Given the description of an element on the screen output the (x, y) to click on. 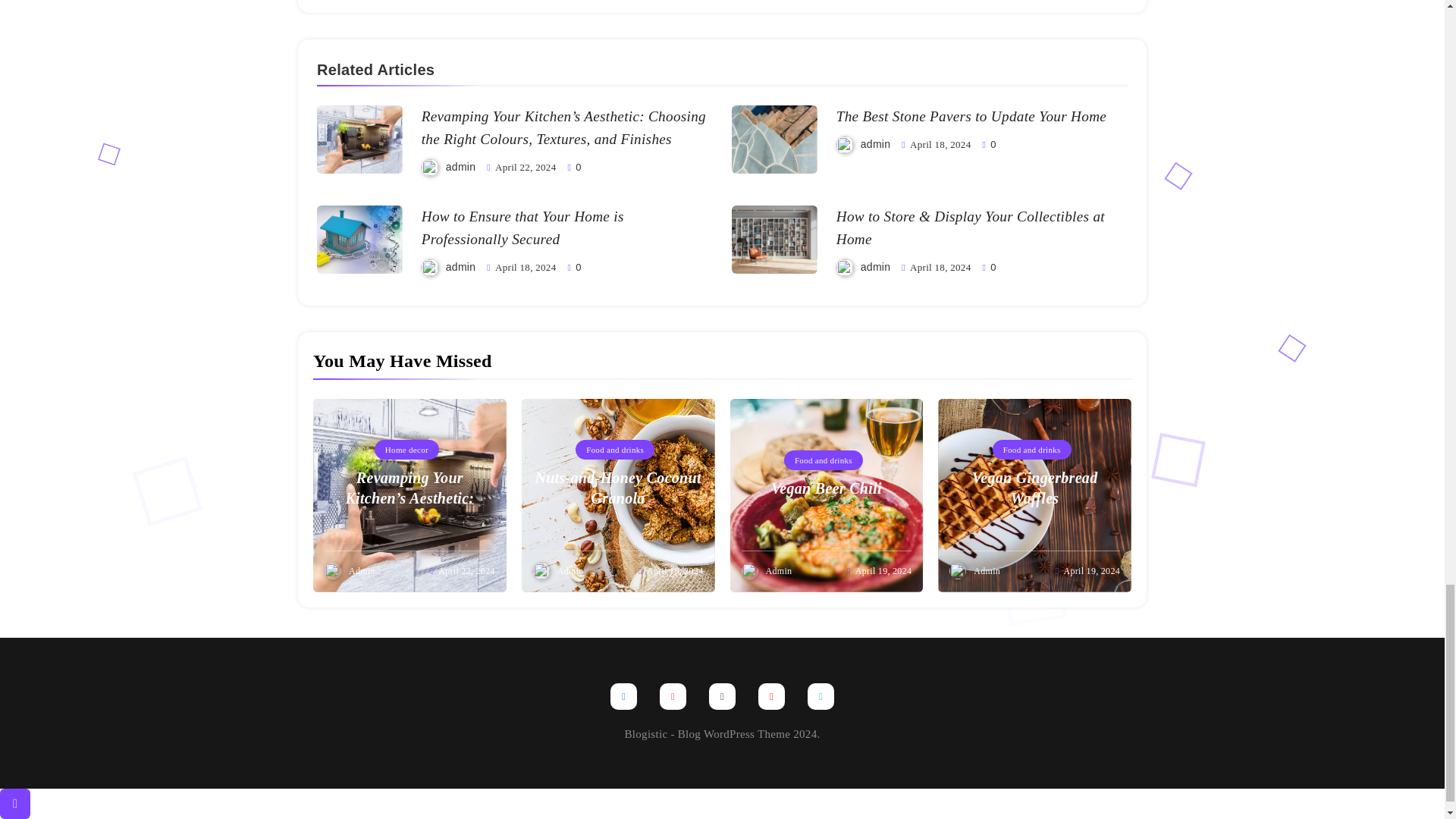
0 (988, 266)
The Best Stone Pavers to Update Your Home (970, 117)
admin (460, 266)
admin (875, 143)
How to Ensure that Your Home is Professionally Secured (523, 228)
0 (573, 166)
admin (875, 266)
April 18, 2024 (525, 266)
April 22, 2024 (525, 166)
April 18, 2024 (940, 266)
